Given the description of an element on the screen output the (x, y) to click on. 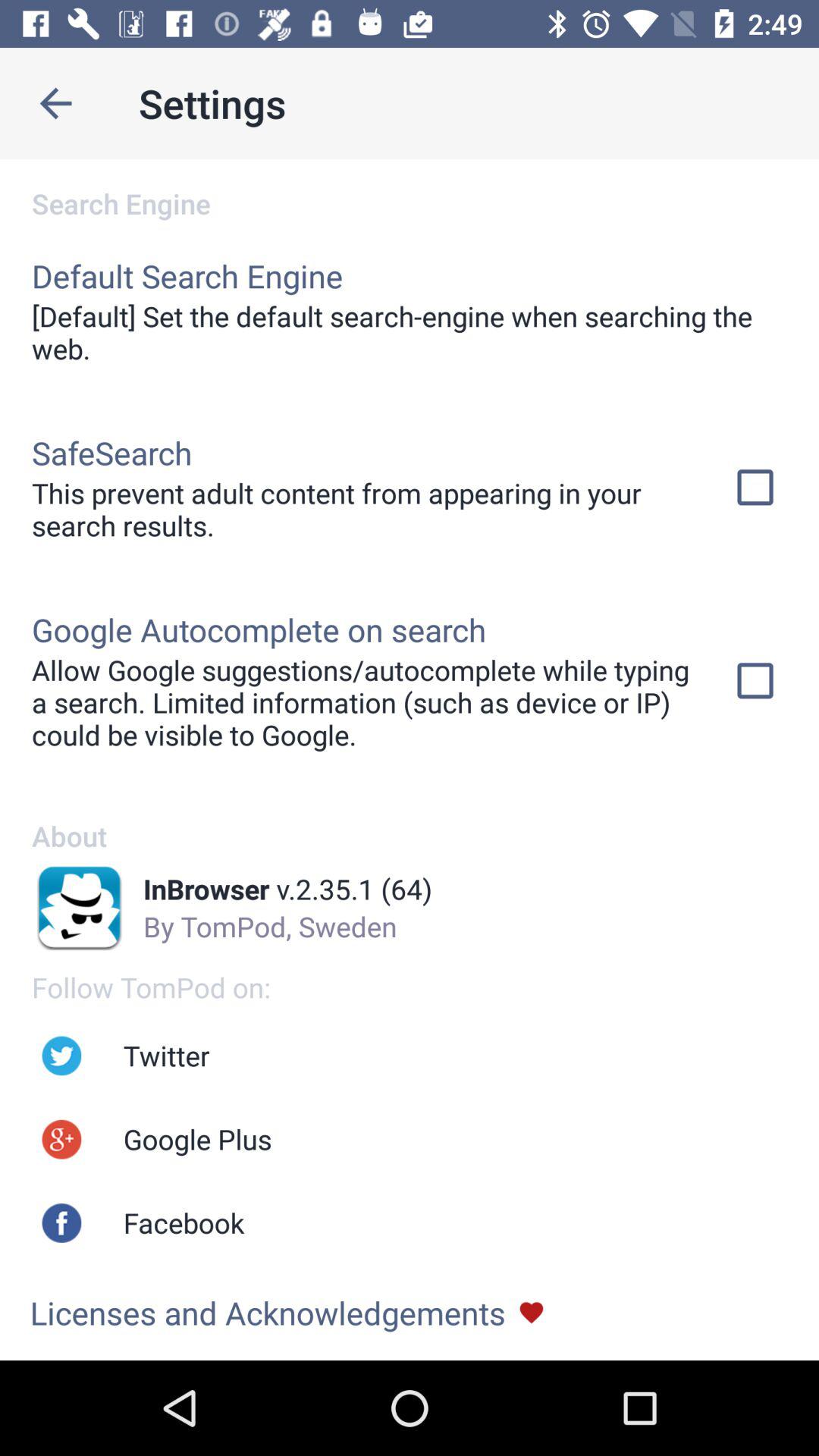
open the item above this prevent adult item (111, 452)
